Given the description of an element on the screen output the (x, y) to click on. 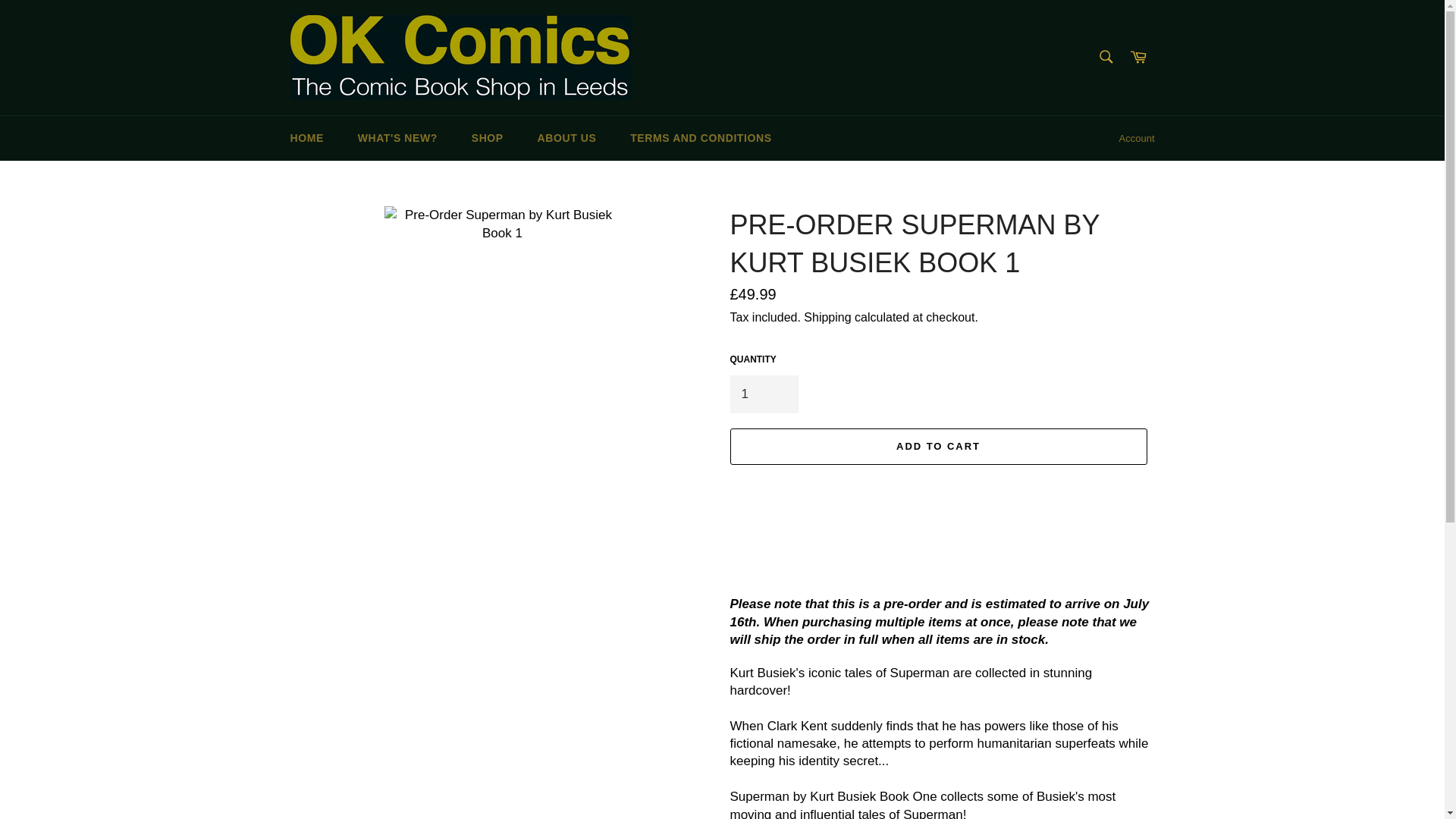
TERMS AND CONDITIONS (700, 138)
SHOP (487, 138)
1 (763, 393)
Search (1104, 56)
Cart (1138, 57)
Shipping (826, 317)
Account (1136, 138)
HOME (306, 138)
ADD TO CART (938, 446)
ABOUT US (566, 138)
WHAT'S NEW? (397, 138)
